Given the description of an element on the screen output the (x, y) to click on. 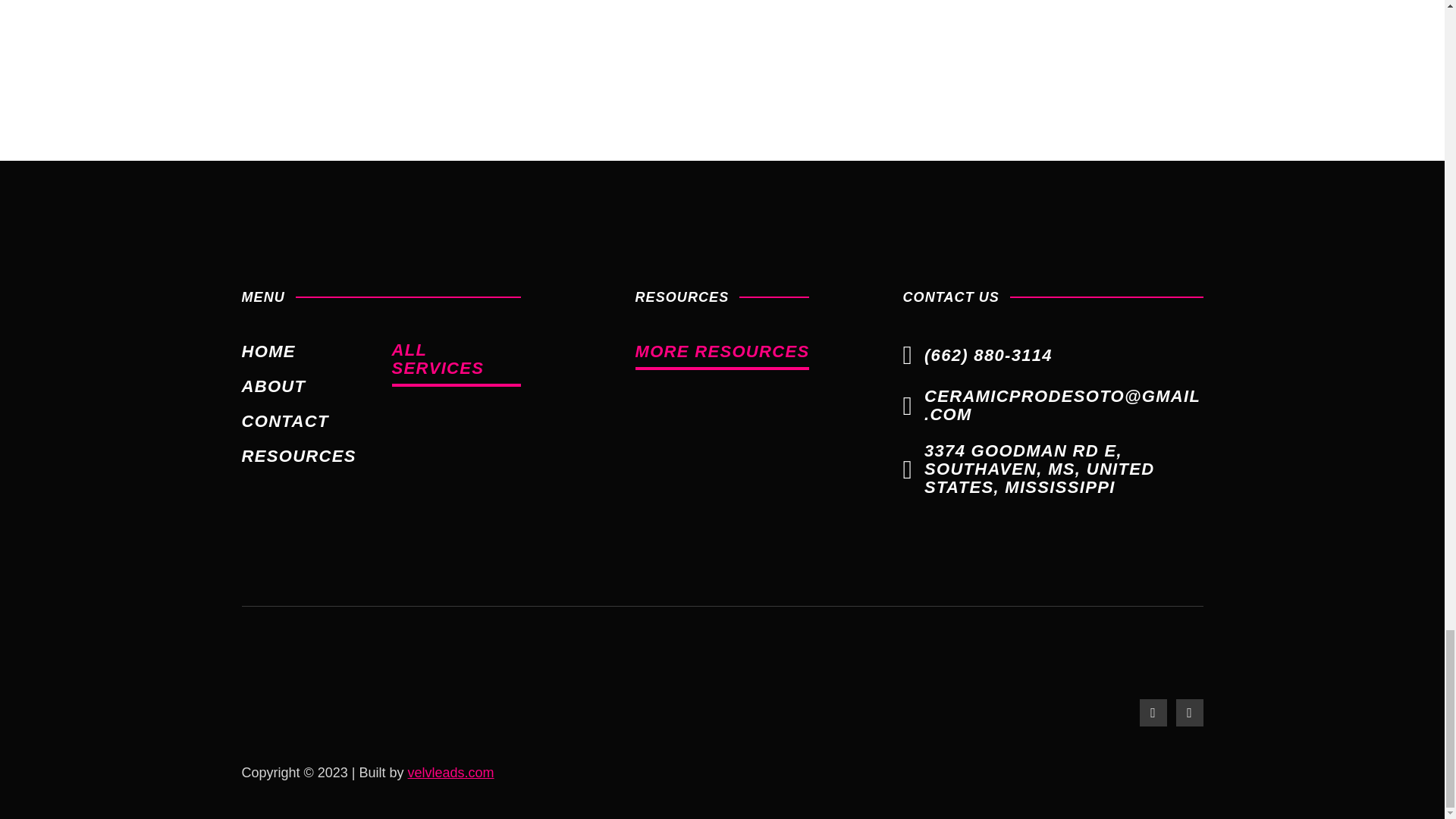
ABOUT (273, 385)
RESOURCES (298, 456)
MORE RESOURCES (721, 356)
ALL SERVICES (455, 363)
velvleads.com (451, 772)
CONTACT (285, 420)
HOME (268, 351)
